Given the description of an element on the screen output the (x, y) to click on. 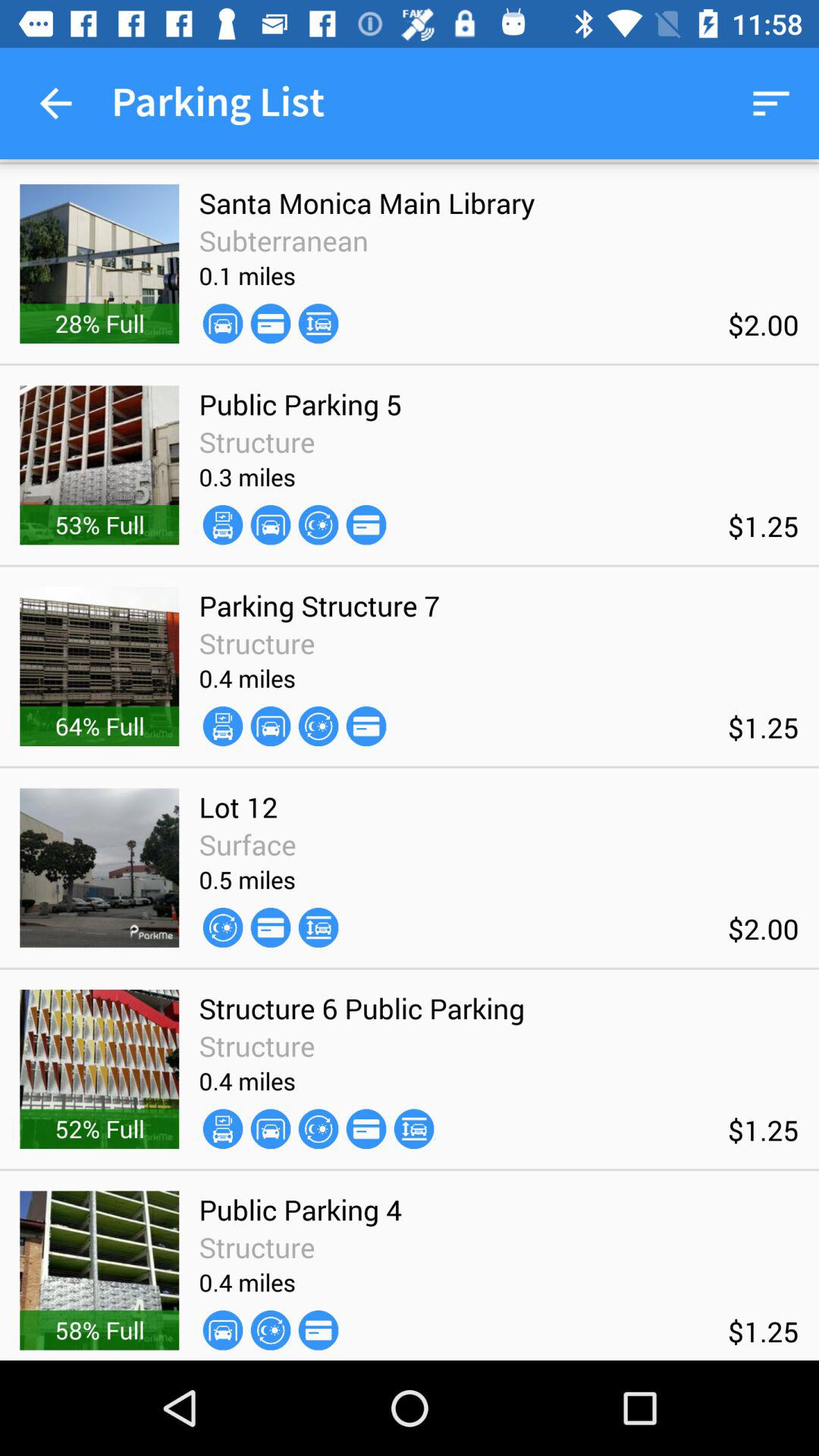
launch surface (247, 844)
